Given the description of an element on the screen output the (x, y) to click on. 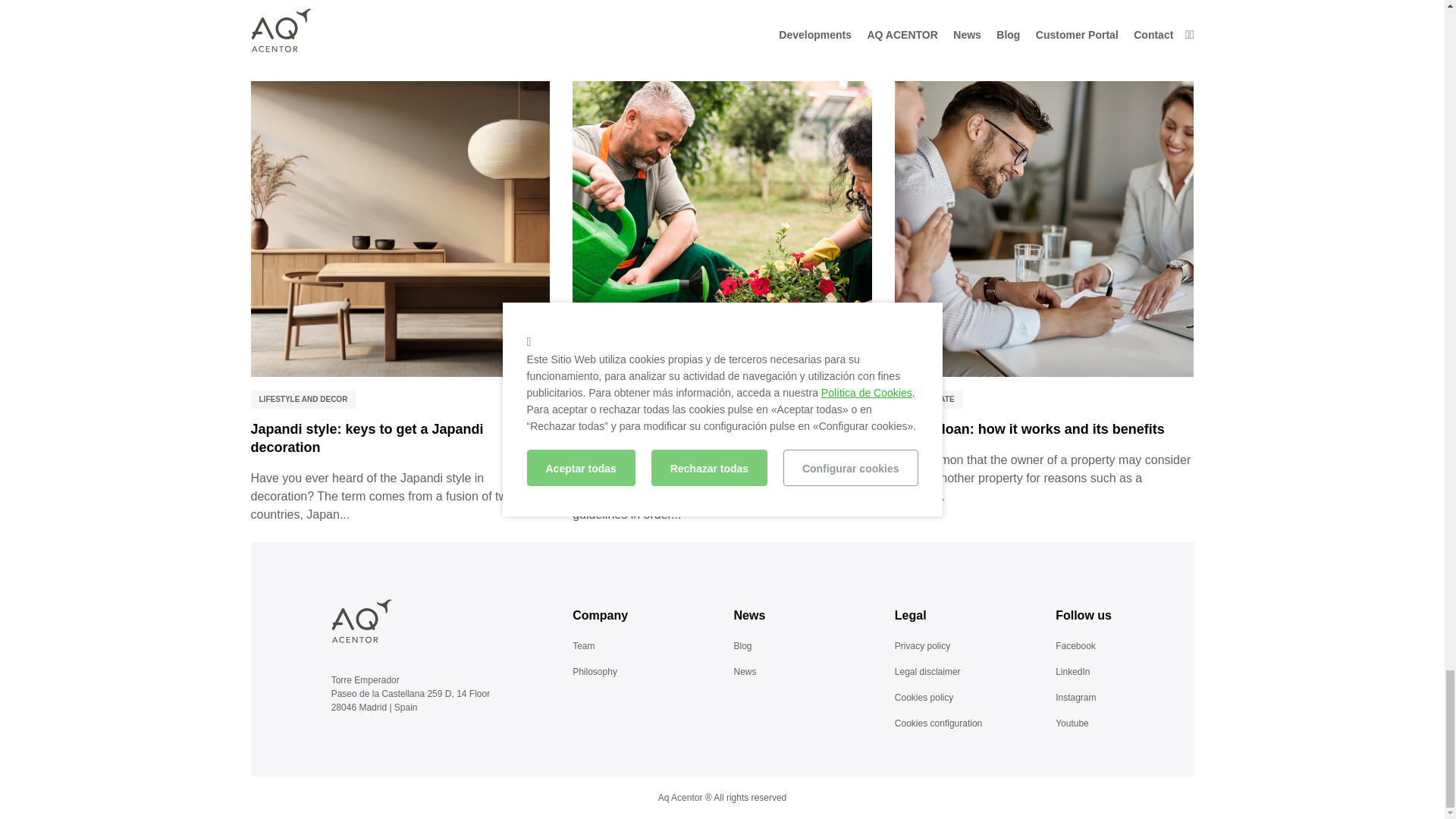
Japandi style: keys to get a Japandi decoration (366, 438)
Bridge loan: how it works and its benefits (1029, 428)
Guide to create an eco-friendly garden at home (722, 228)
Guide to create an eco-friendly garden at home (705, 438)
Bridge loan: how it works and its benefits (1044, 228)
Japandi style: keys to get a Japandi decoration (400, 228)
